Given the description of an element on the screen output the (x, y) to click on. 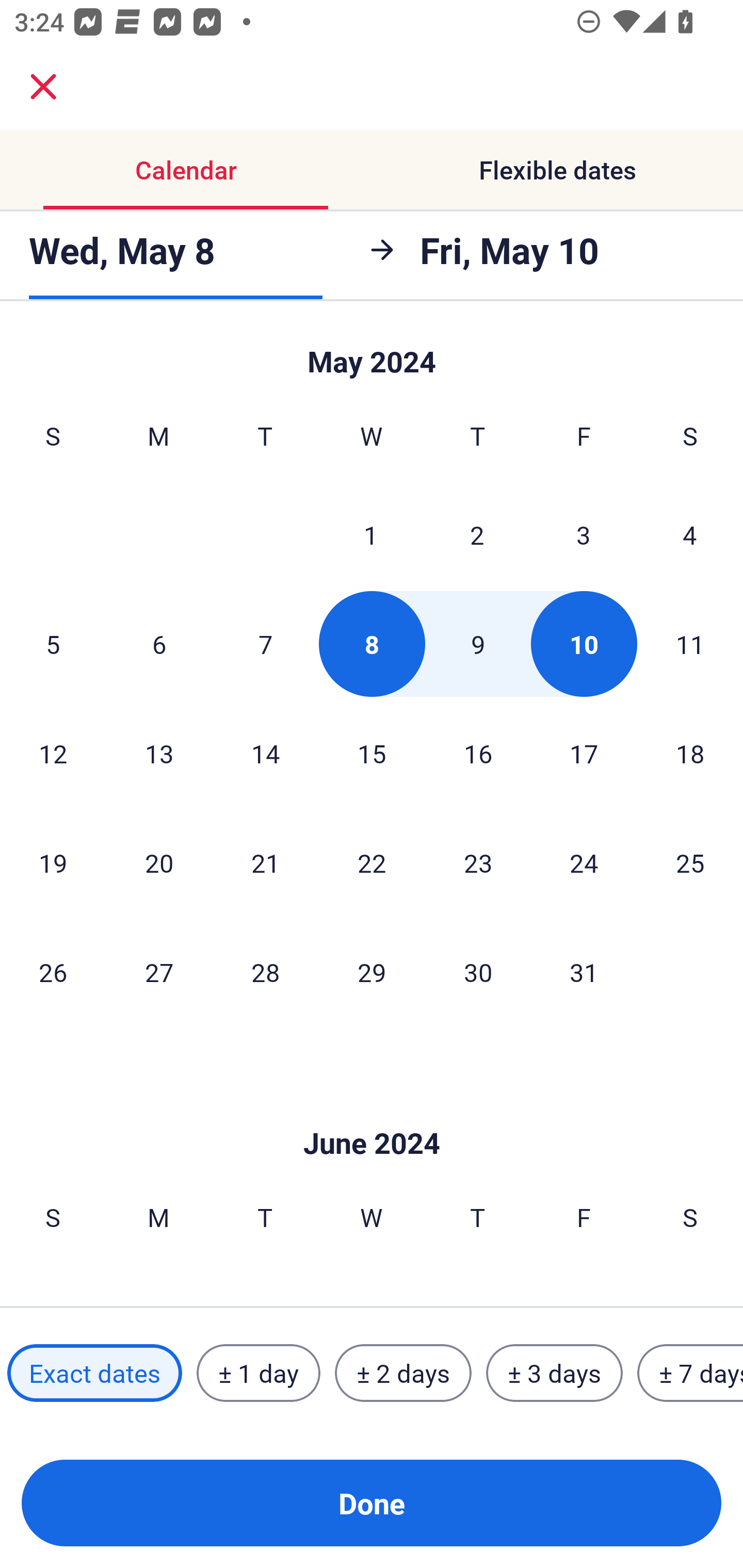
close. (43, 86)
Flexible dates (557, 170)
Skip to Done (371, 352)
1 Wednesday, May 1, 2024 (371, 534)
2 Thursday, May 2, 2024 (477, 534)
3 Friday, May 3, 2024 (583, 534)
4 Saturday, May 4, 2024 (689, 534)
5 Sunday, May 5, 2024 (53, 643)
6 Monday, May 6, 2024 (159, 643)
7 Tuesday, May 7, 2024 (265, 643)
11 Saturday, May 11, 2024 (690, 643)
12 Sunday, May 12, 2024 (53, 752)
13 Monday, May 13, 2024 (159, 752)
14 Tuesday, May 14, 2024 (265, 752)
15 Wednesday, May 15, 2024 (371, 752)
16 Thursday, May 16, 2024 (477, 752)
17 Friday, May 17, 2024 (584, 752)
18 Saturday, May 18, 2024 (690, 752)
19 Sunday, May 19, 2024 (53, 862)
20 Monday, May 20, 2024 (159, 862)
21 Tuesday, May 21, 2024 (265, 862)
22 Wednesday, May 22, 2024 (371, 862)
23 Thursday, May 23, 2024 (477, 862)
24 Friday, May 24, 2024 (584, 862)
25 Saturday, May 25, 2024 (690, 862)
26 Sunday, May 26, 2024 (53, 971)
27 Monday, May 27, 2024 (159, 971)
28 Tuesday, May 28, 2024 (265, 971)
29 Wednesday, May 29, 2024 (371, 971)
30 Thursday, May 30, 2024 (477, 971)
31 Friday, May 31, 2024 (584, 971)
Skip to Done (371, 1112)
Exact dates (94, 1372)
± 1 day (258, 1372)
± 2 days (403, 1372)
± 3 days (553, 1372)
± 7 days (690, 1372)
Done (371, 1502)
